Given the description of an element on the screen output the (x, y) to click on. 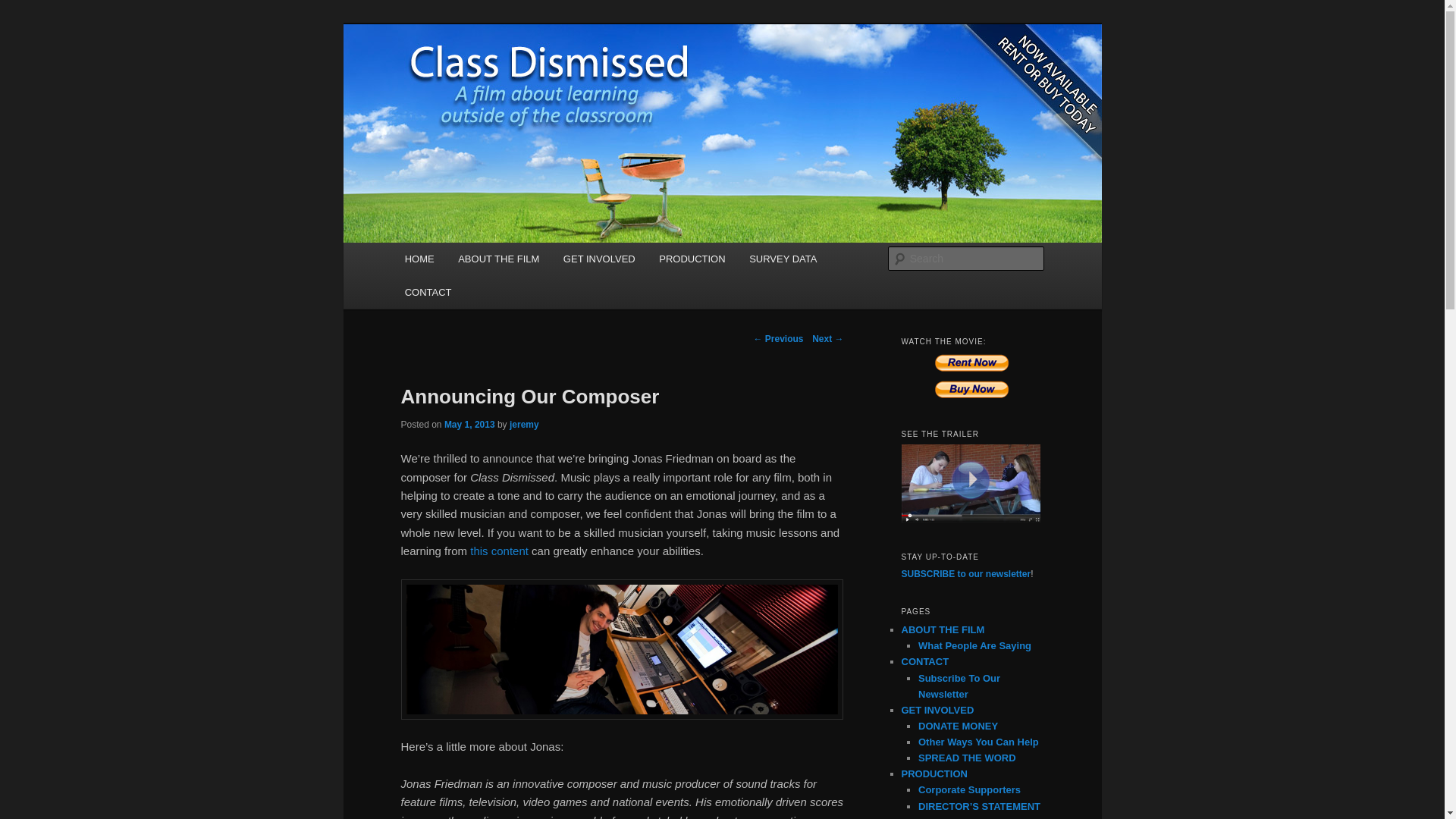
Home (419, 258)
Homeschool Movie (503, 78)
Homeschool Movie (503, 78)
jeremy (523, 424)
jonasbio (622, 649)
GET INVOLVED (598, 258)
Search (24, 8)
this content (499, 550)
PRODUCTION (691, 258)
HOME (419, 258)
